Given the description of an element on the screen output the (x, y) to click on. 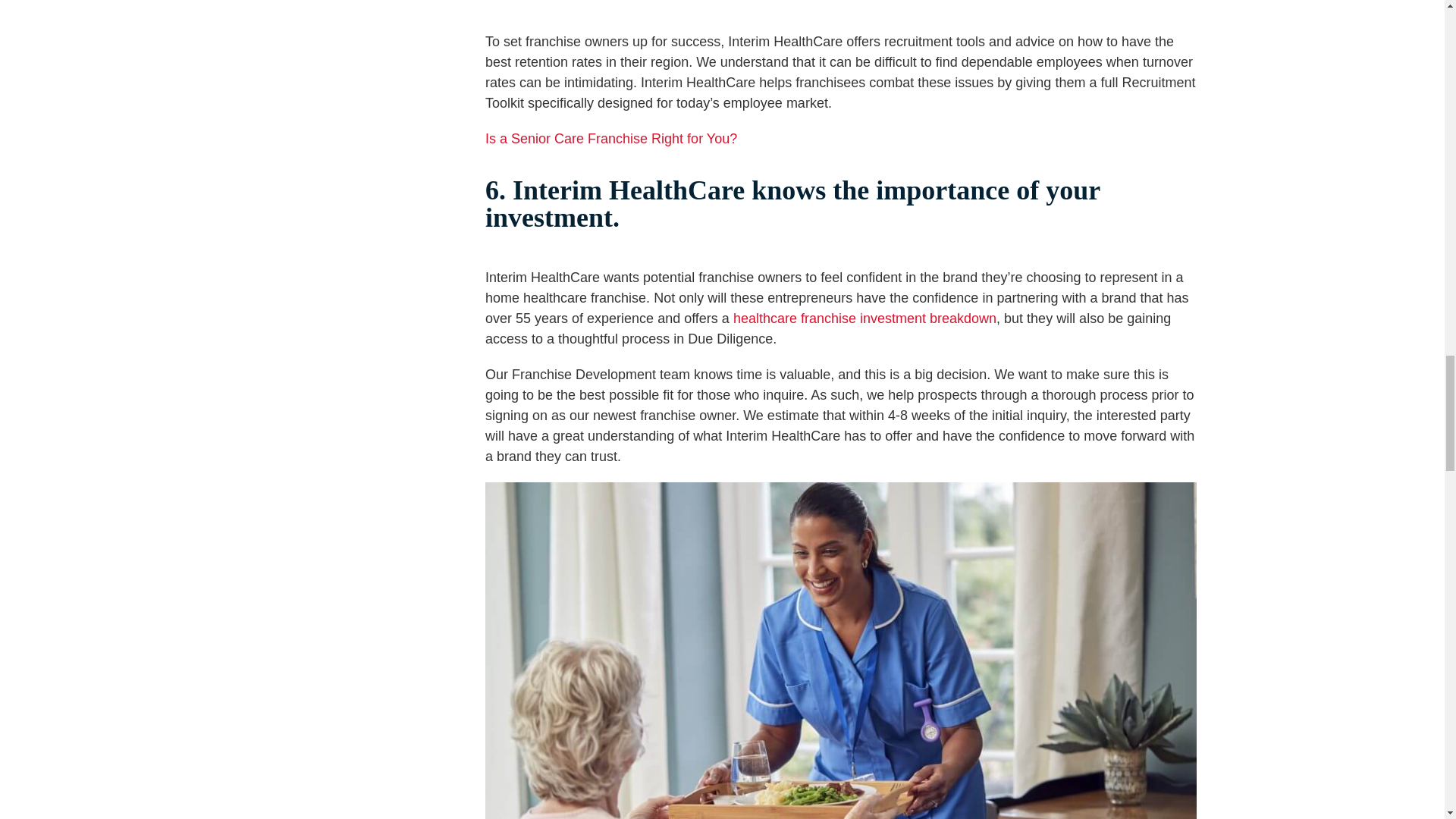
Is a Senior Care Franchise Right for You? (610, 138)
healthcare franchise investment breakdown (864, 318)
